Given the description of an element on the screen output the (x, y) to click on. 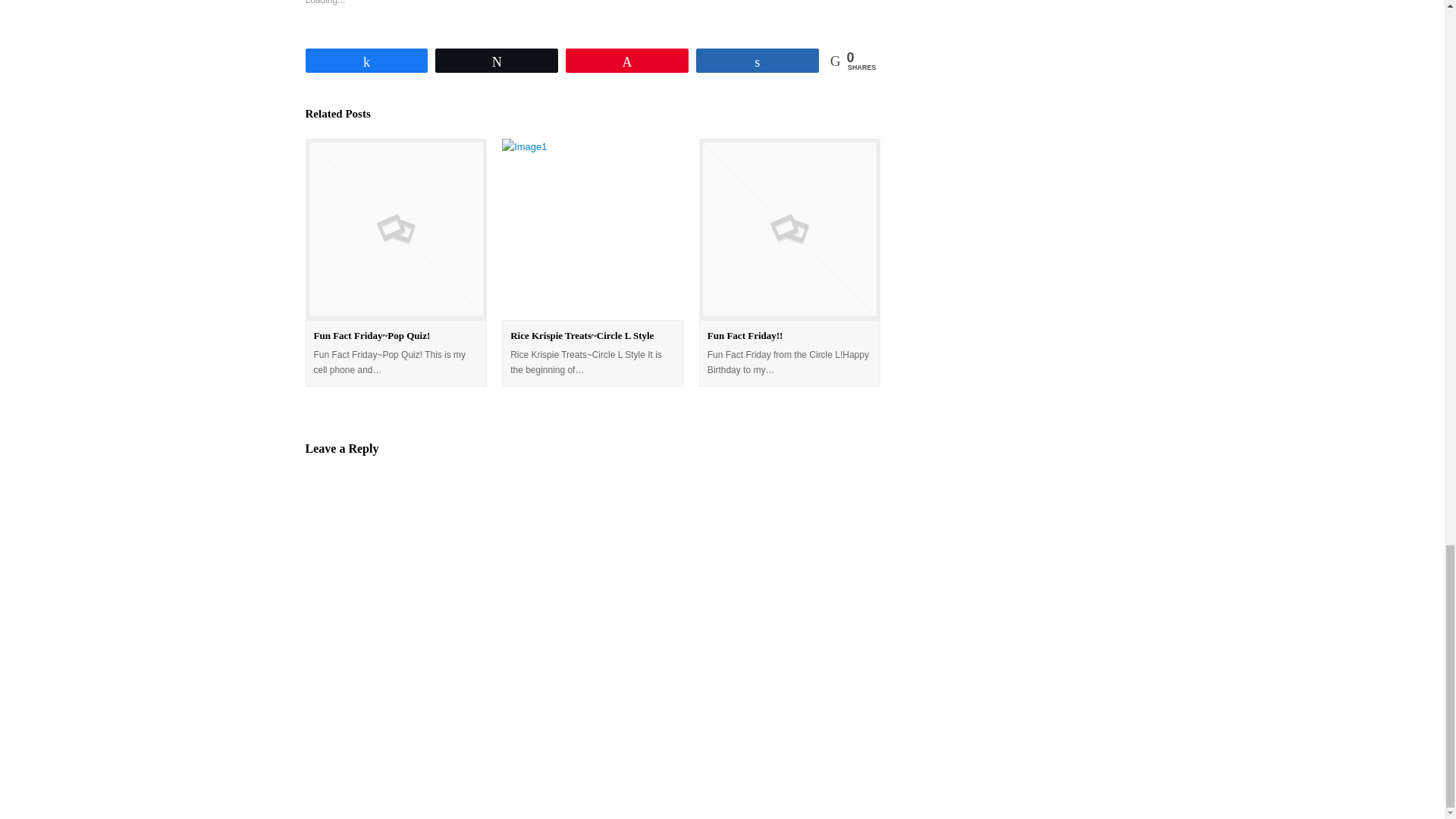
Fun Fact Friday!! (745, 335)
